Given the description of an element on the screen output the (x, y) to click on. 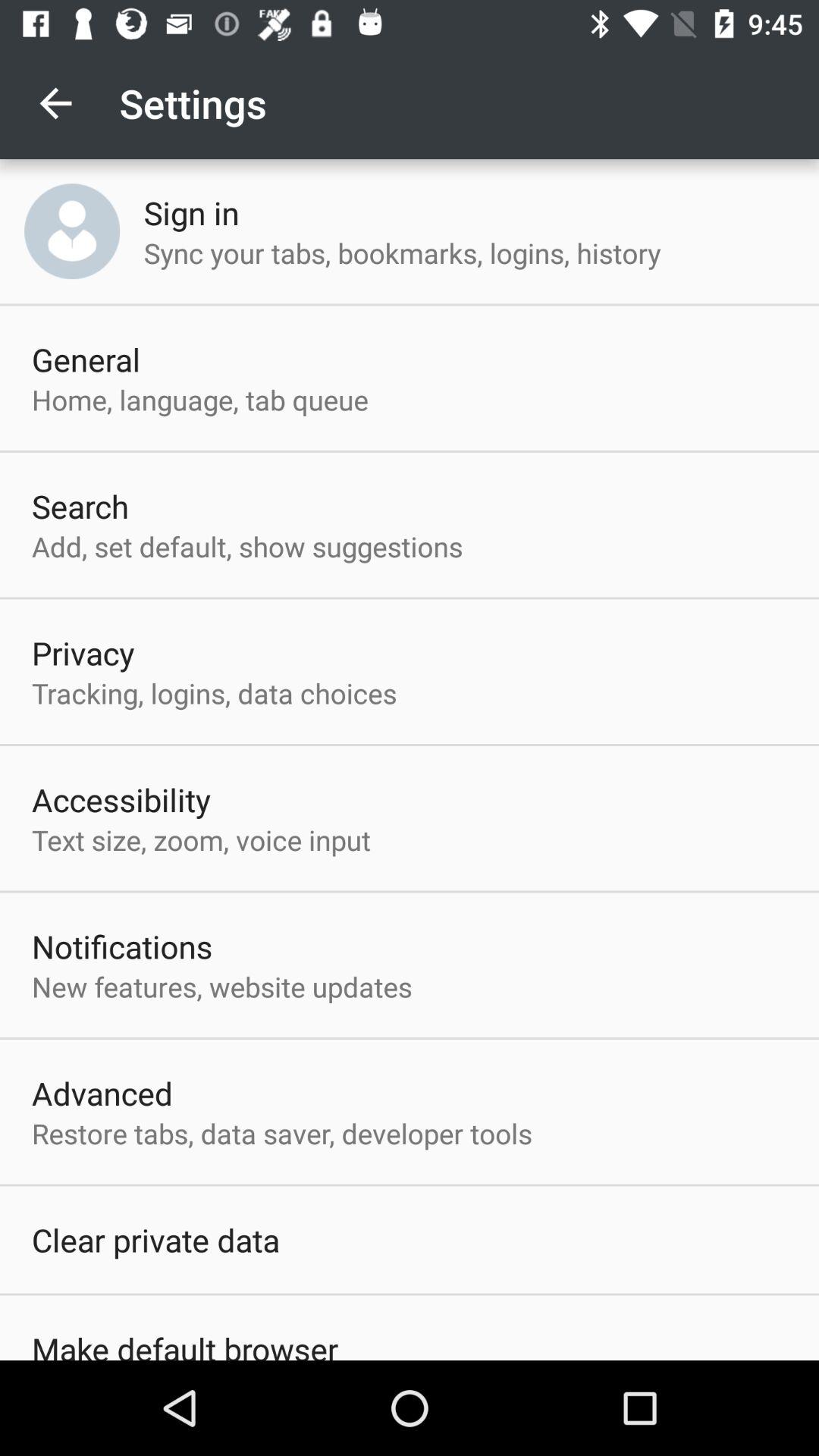
choose icon below the accessibility item (200, 839)
